Given the description of an element on the screen output the (x, y) to click on. 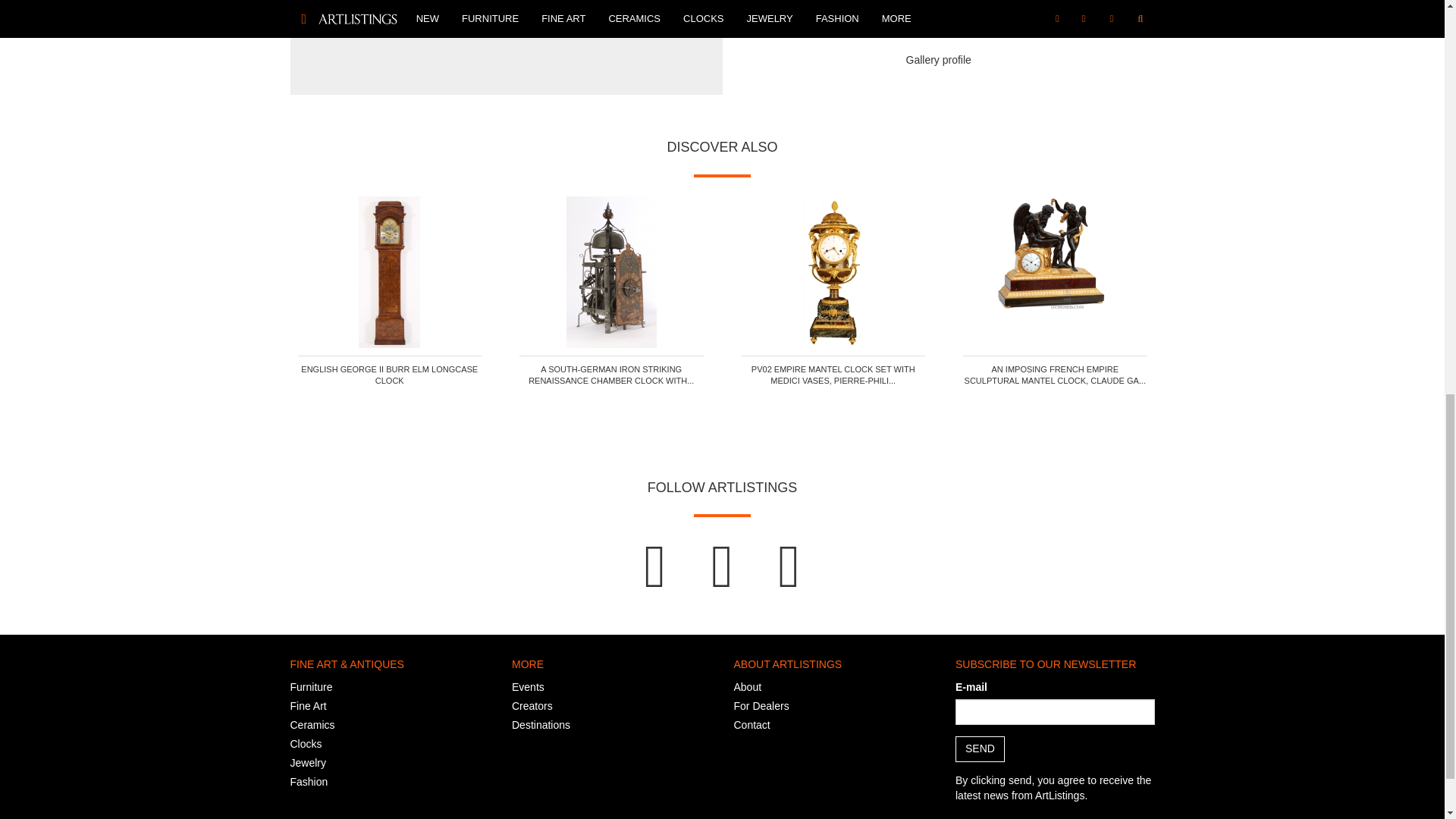
English George II Burr Elm Longcase Clock (389, 374)
English George II Burr Elm Longcase Clock (389, 272)
